Given the description of an element on the screen output the (x, y) to click on. 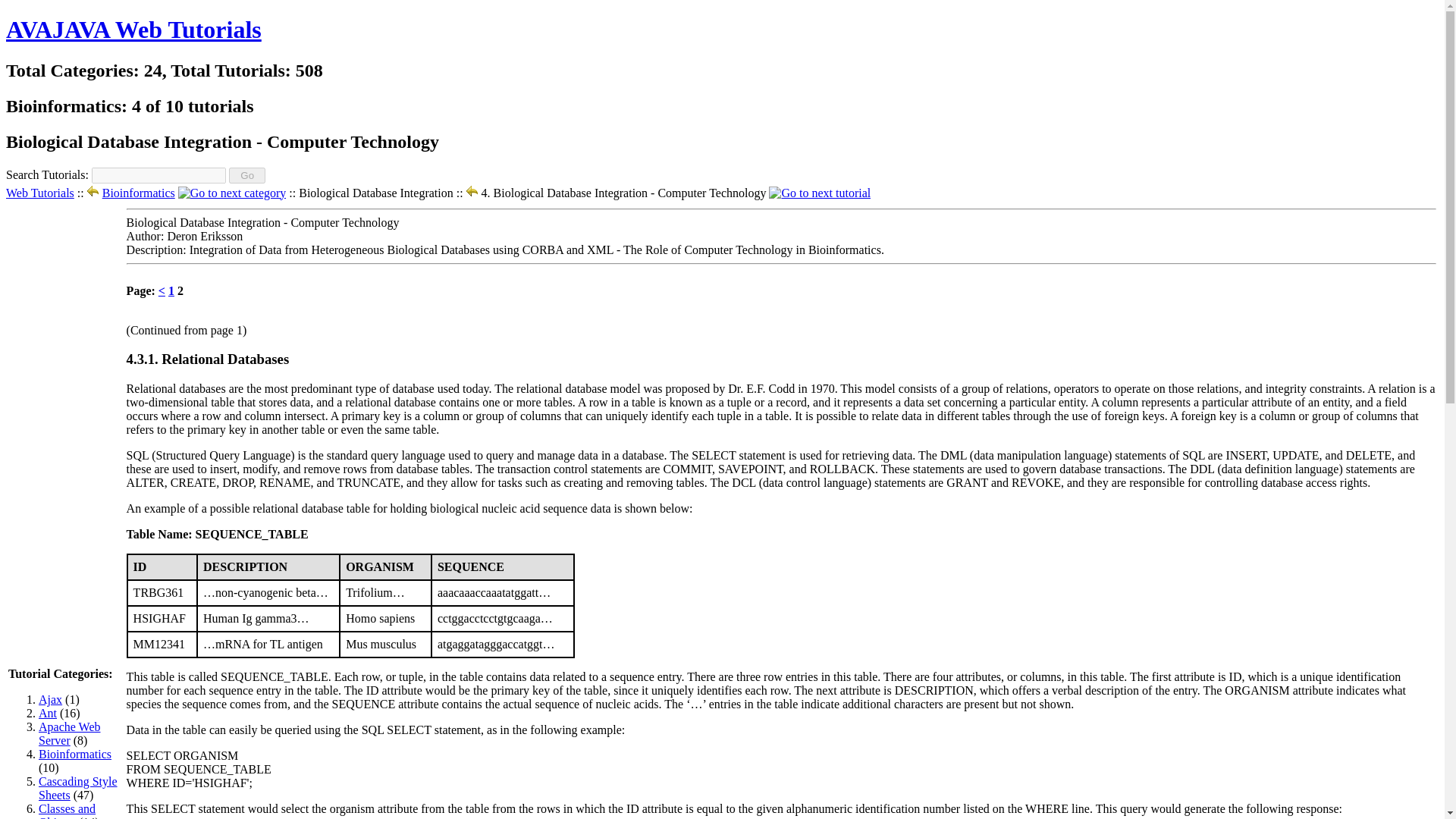
Apache Web Server (69, 733)
Go to page 1 (161, 290)
Web Tutorials (39, 192)
Cascading Style Sheets (78, 787)
Ajax (50, 698)
Go to previous category: 'Apache Web Server' (93, 192)
  Go   (247, 175)
Go to page 1 (171, 290)
Go to Categories Index (39, 192)
1 (171, 290)
AVAJAVA Web Tutorials (133, 29)
Classes and Objects (67, 810)
Bioinformatics (75, 753)
Go to 'Bioinformatics' category (137, 192)
